Given the description of an element on the screen output the (x, y) to click on. 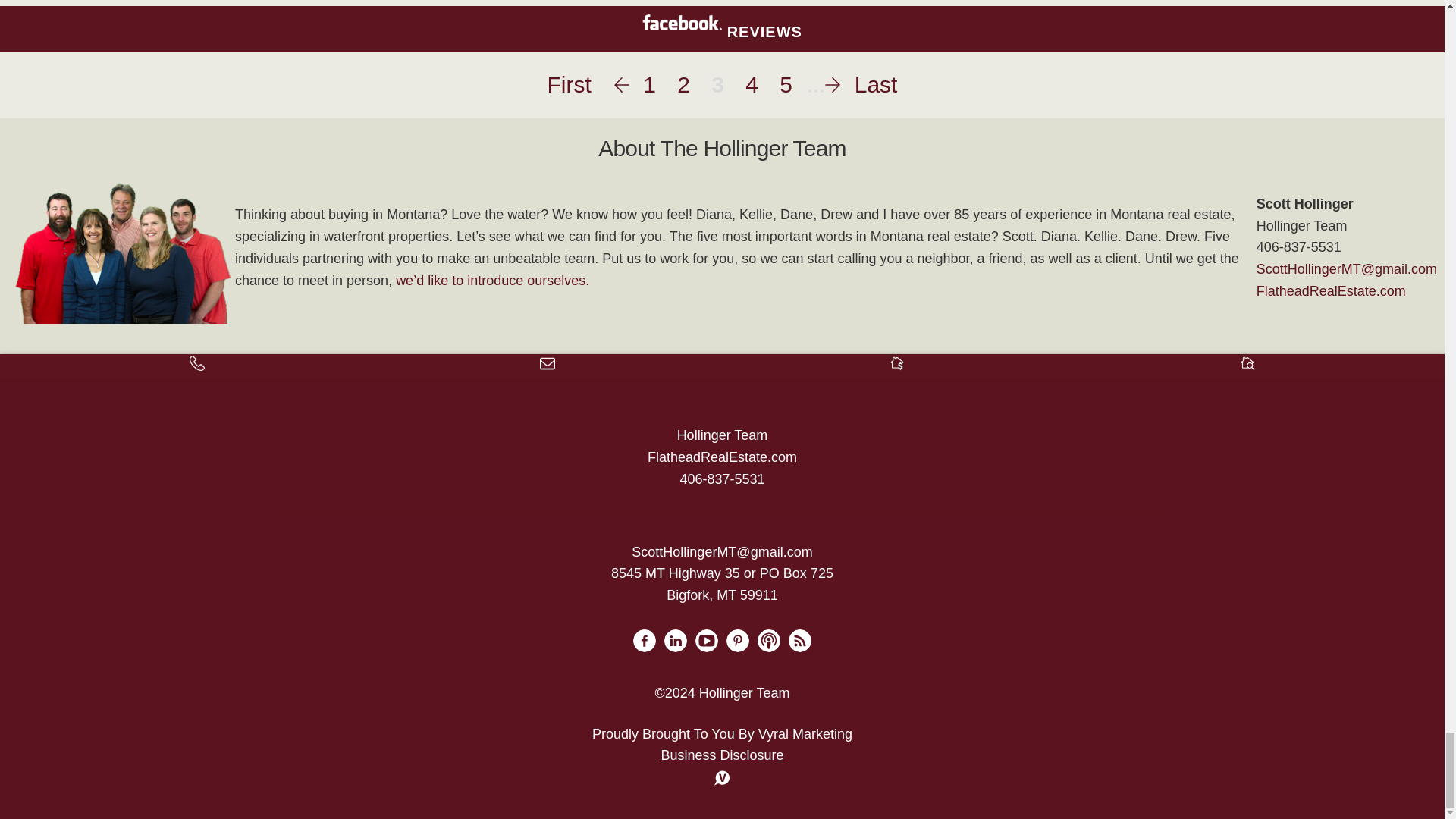
Linkedin (675, 640)
YouTube (706, 640)
Pinterest (737, 640)
Podcast (768, 640)
Facbook (644, 640)
